Given the description of an element on the screen output the (x, y) to click on. 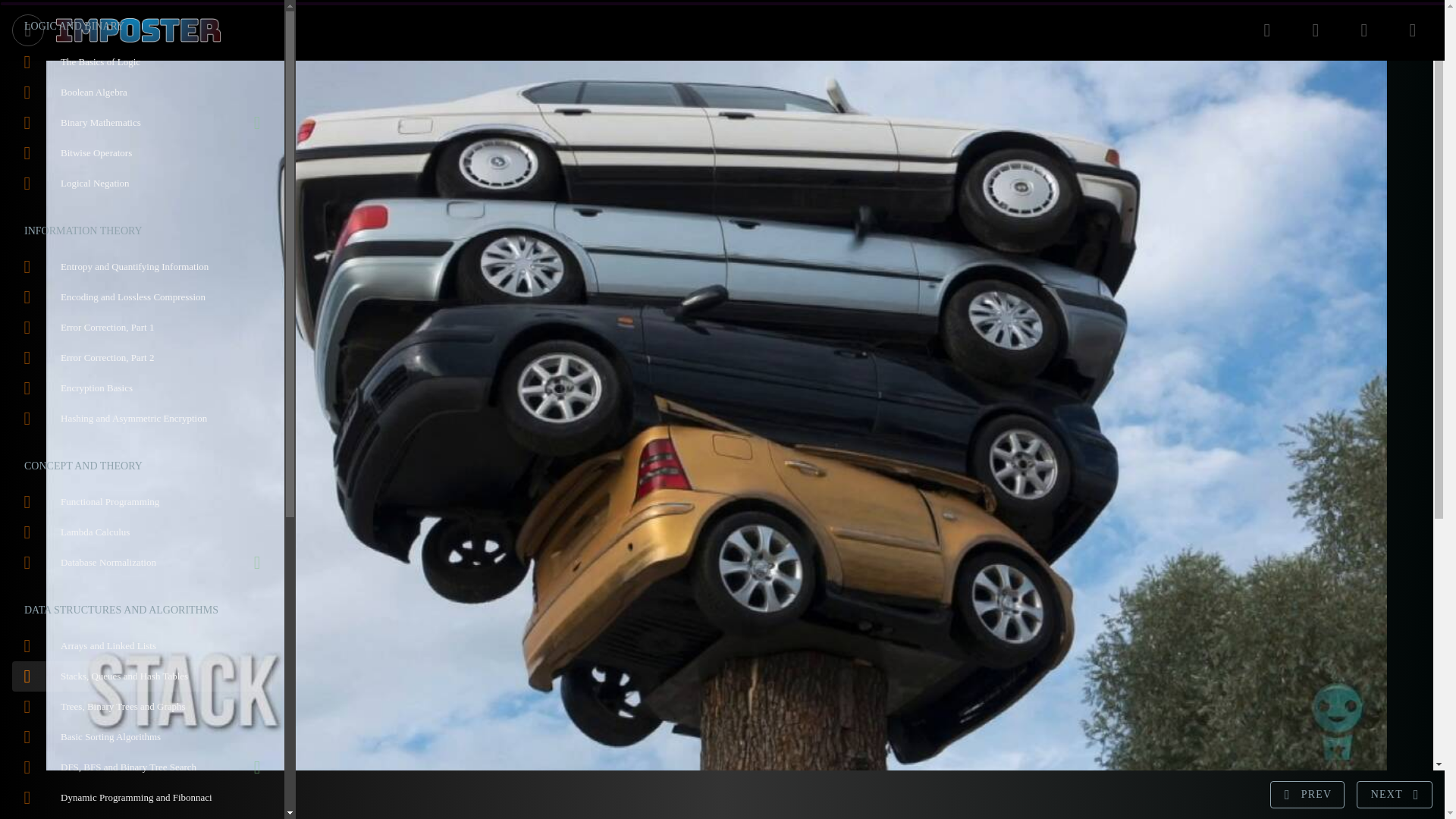
Trees, Binary Trees and Graphs (141, 706)
Database Normalization (141, 562)
Arrays and Linked Lists (141, 645)
Lambda Calculus (141, 531)
PREV (1306, 794)
DFS, BFS and Binary Tree Search (141, 767)
Logical Negation (141, 183)
Dynamic Programming and Fibonnaci (141, 797)
Hashing and Asymmetric Encryption (141, 418)
Basic Sorting Algorithms (141, 736)
Error Correction, Part 1 (141, 327)
Stacks, Queues and Hash Tables (141, 675)
Bitwise Operators (141, 153)
Binary Mathematics (141, 122)
The Basics of Logic (141, 61)
